Given the description of an element on the screen output the (x, y) to click on. 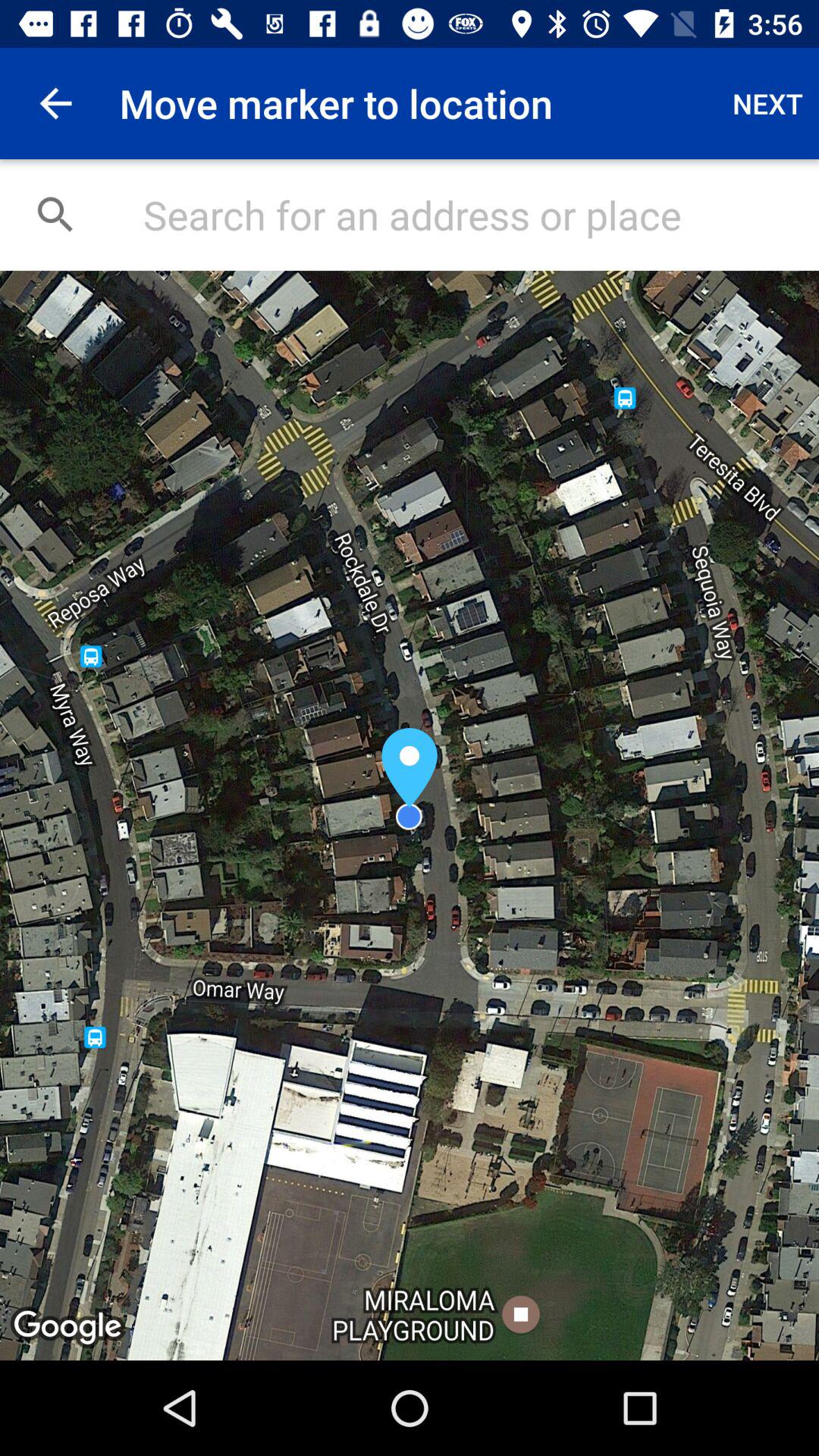
tap the app next to move marker to (767, 103)
